Given the description of an element on the screen output the (x, y) to click on. 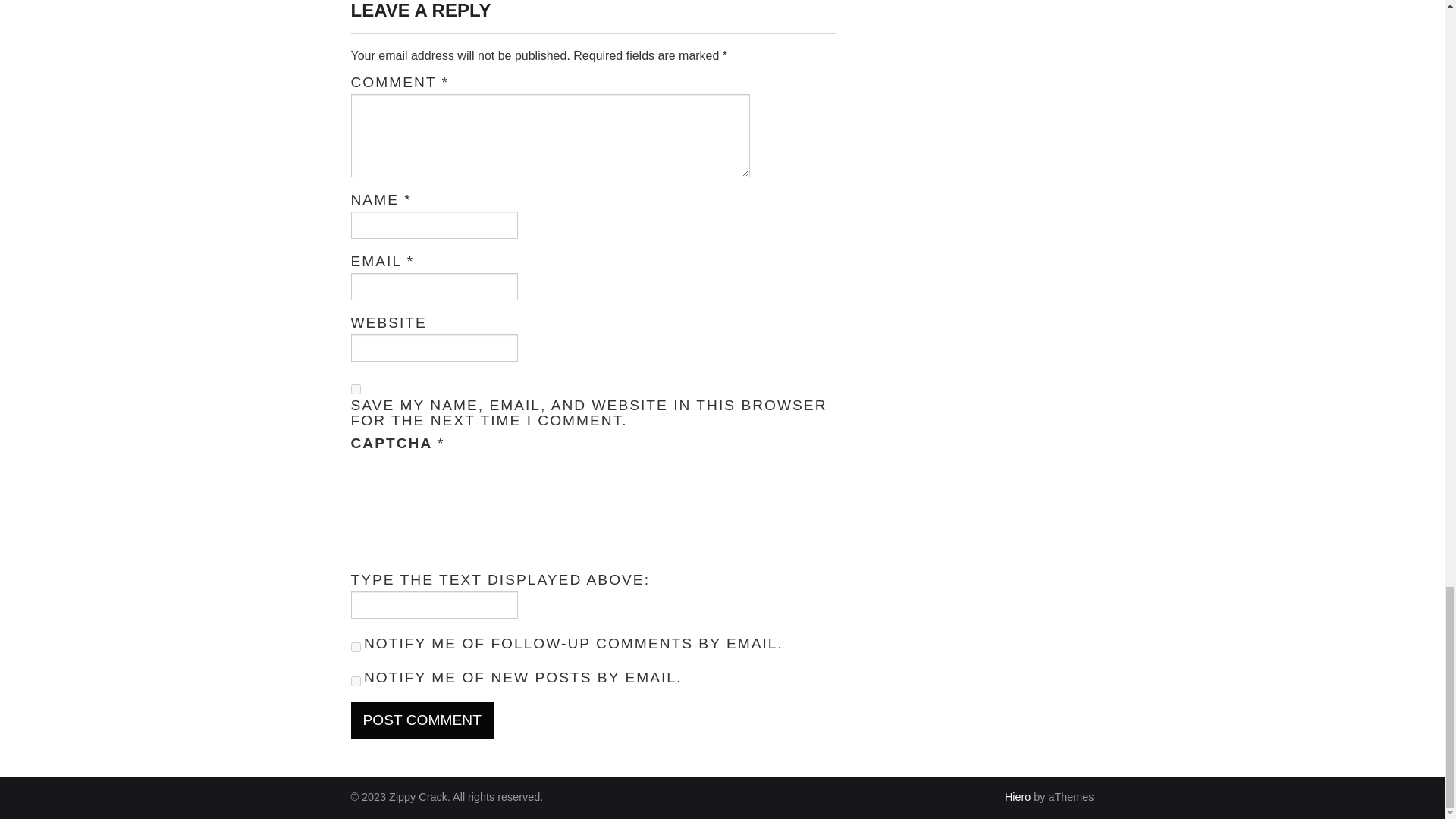
Post Comment (421, 719)
yes (354, 388)
subscribe (354, 646)
Post Comment (421, 719)
subscribe (354, 681)
